Given the description of an element on the screen output the (x, y) to click on. 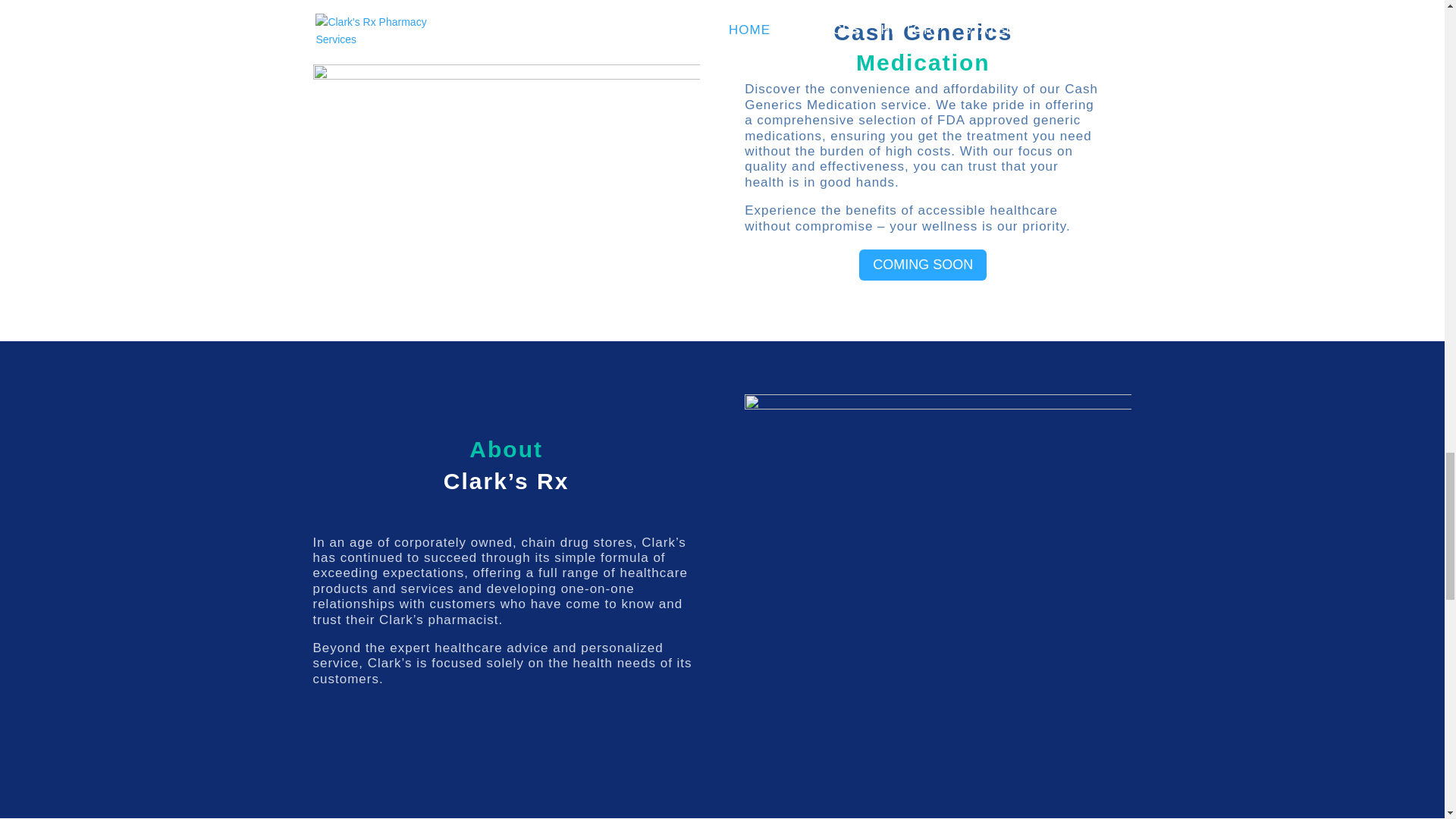
COMING SOON (923, 264)
bottles-spilled-left (505, 161)
